Given the description of an element on the screen output the (x, y) to click on. 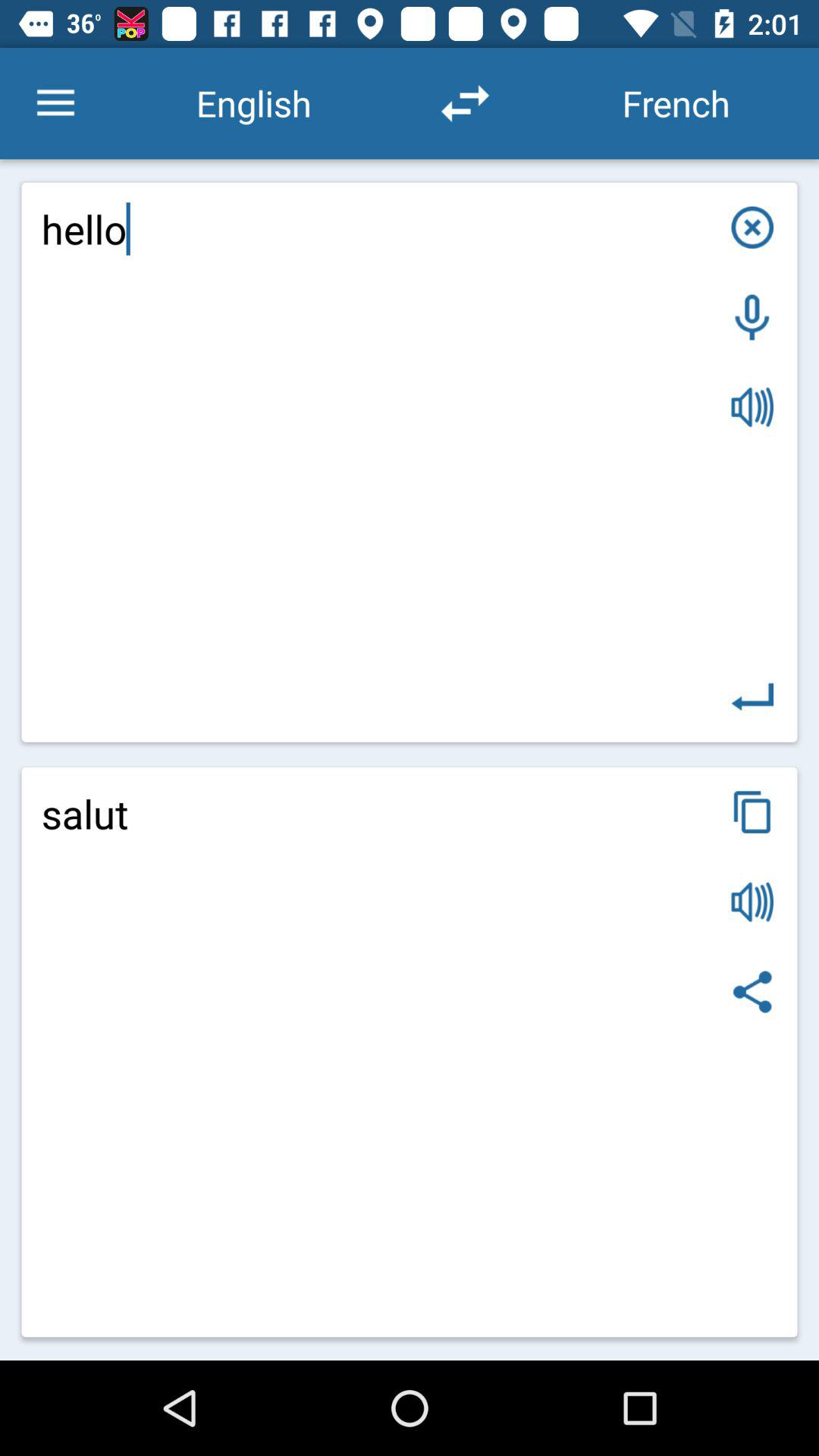
click item at the bottom right corner (752, 991)
